Given the description of an element on the screen output the (x, y) to click on. 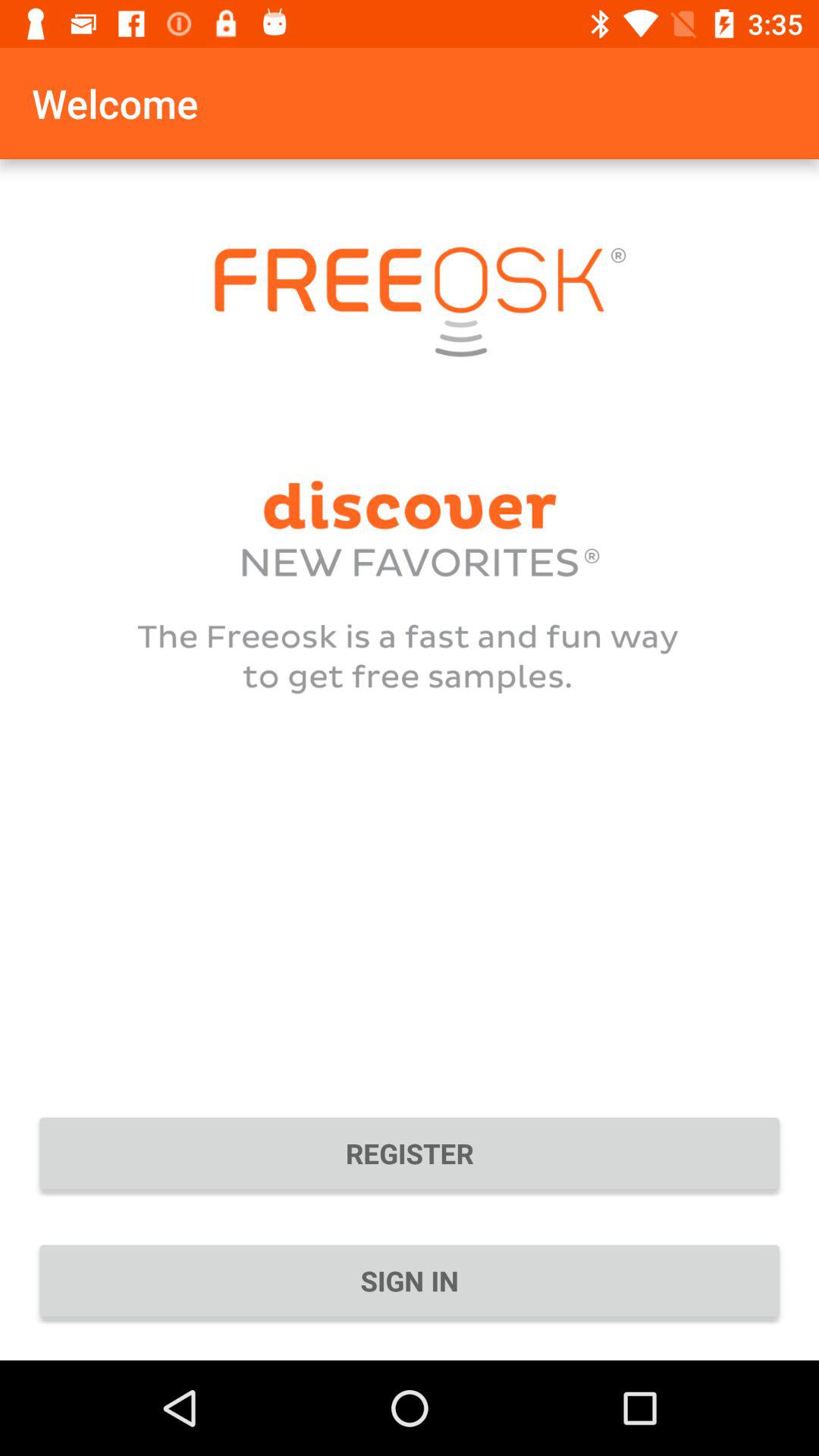
select the register icon (409, 1153)
